Given the description of an element on the screen output the (x, y) to click on. 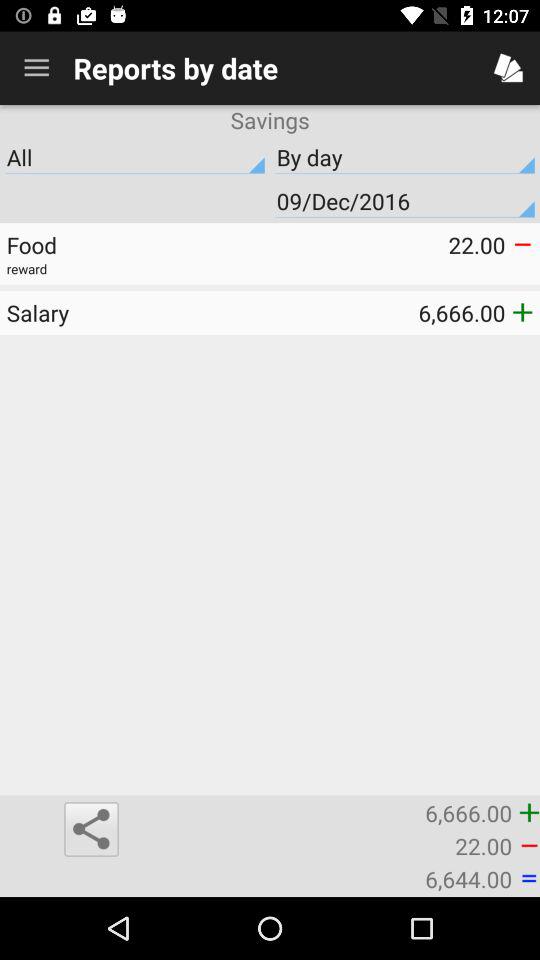
sharing option (91, 829)
